Given the description of an element on the screen output the (x, y) to click on. 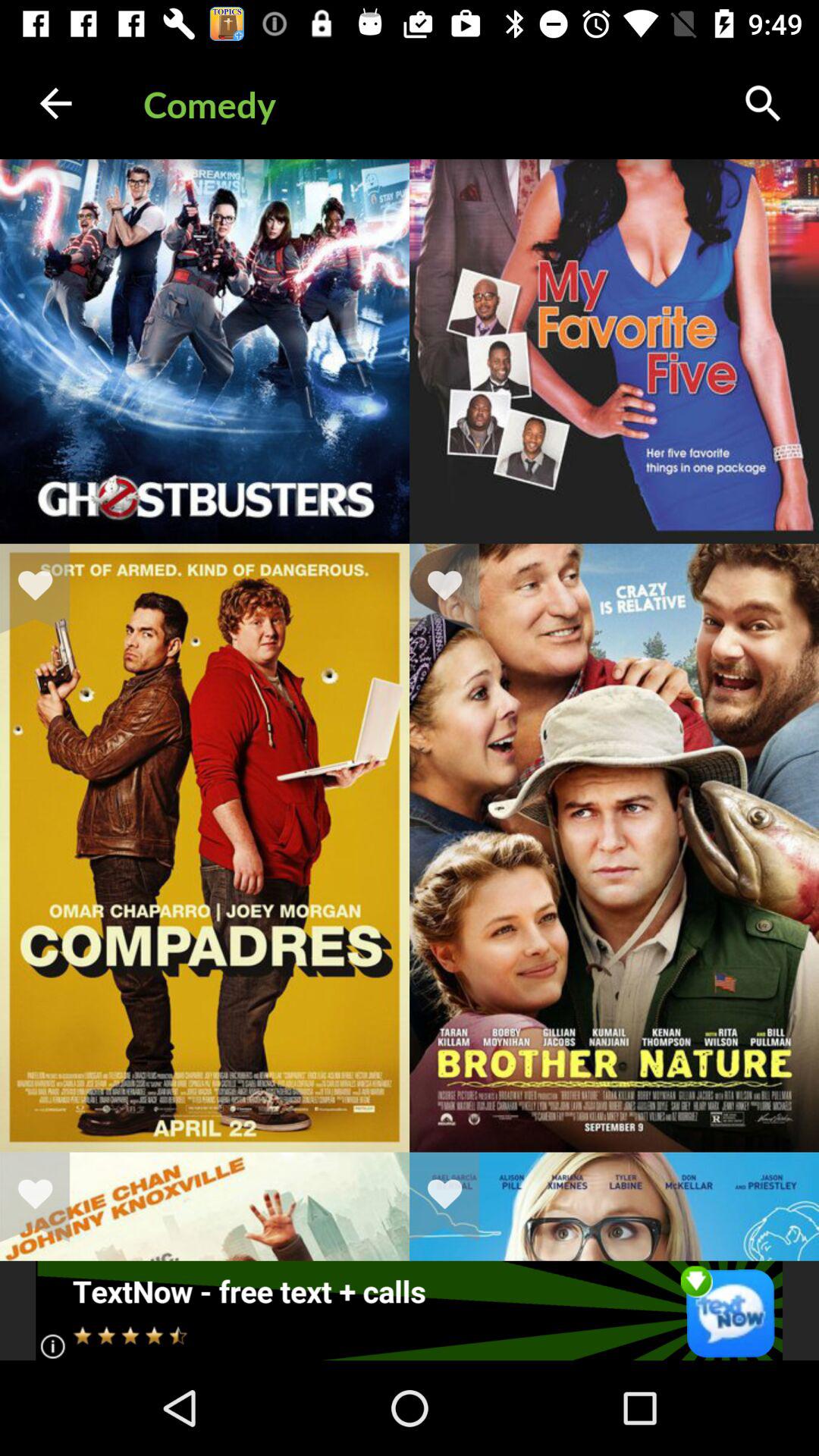
turn off the icon to the left of the comedy item (55, 103)
